Given the description of an element on the screen output the (x, y) to click on. 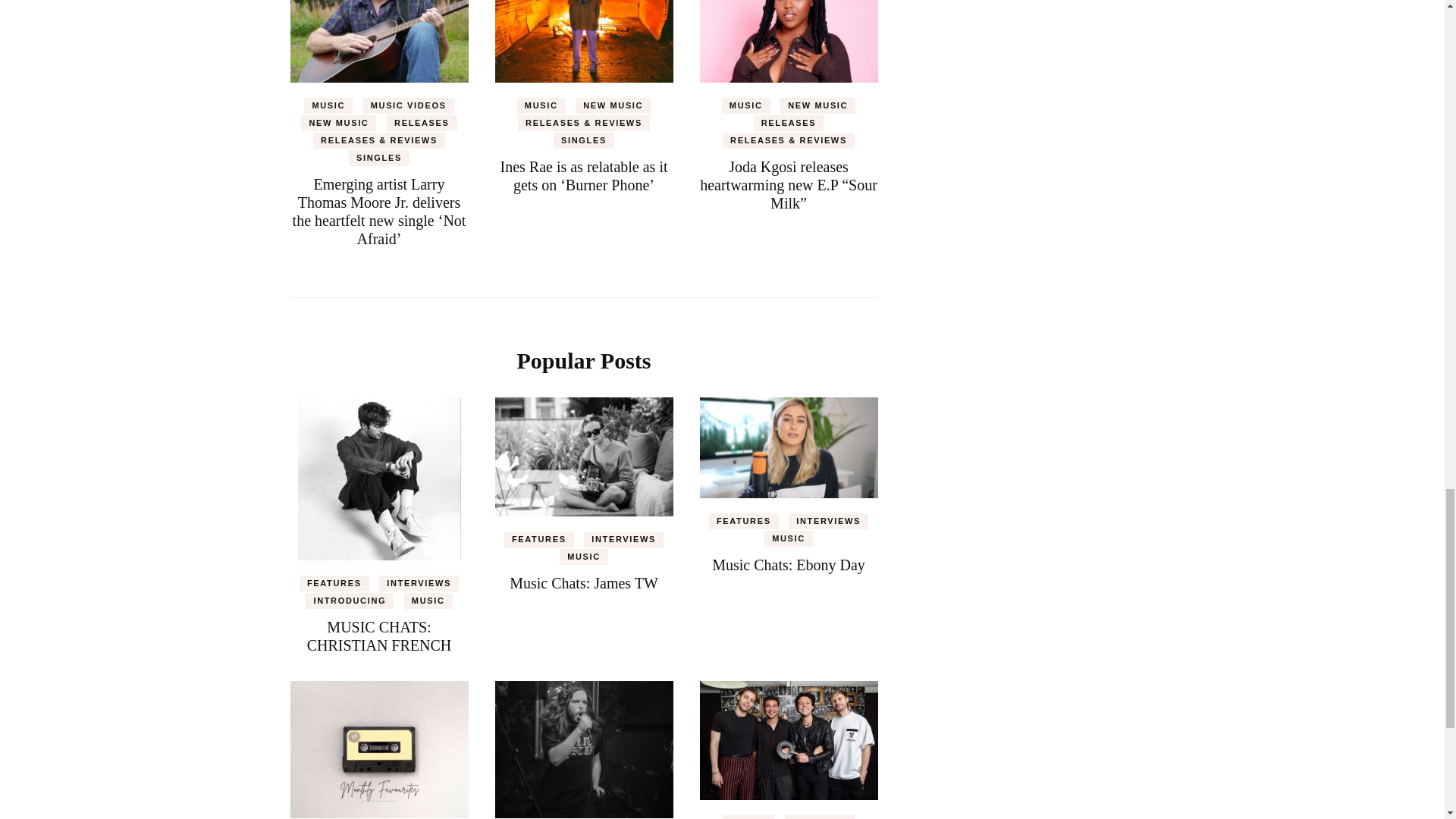
MUSIC (328, 105)
MUSIC VIDEOS (408, 105)
SINGLES (379, 157)
NEW MUSIC (338, 123)
MUSIC (541, 105)
RELEASES (422, 123)
